Given the description of an element on the screen output the (x, y) to click on. 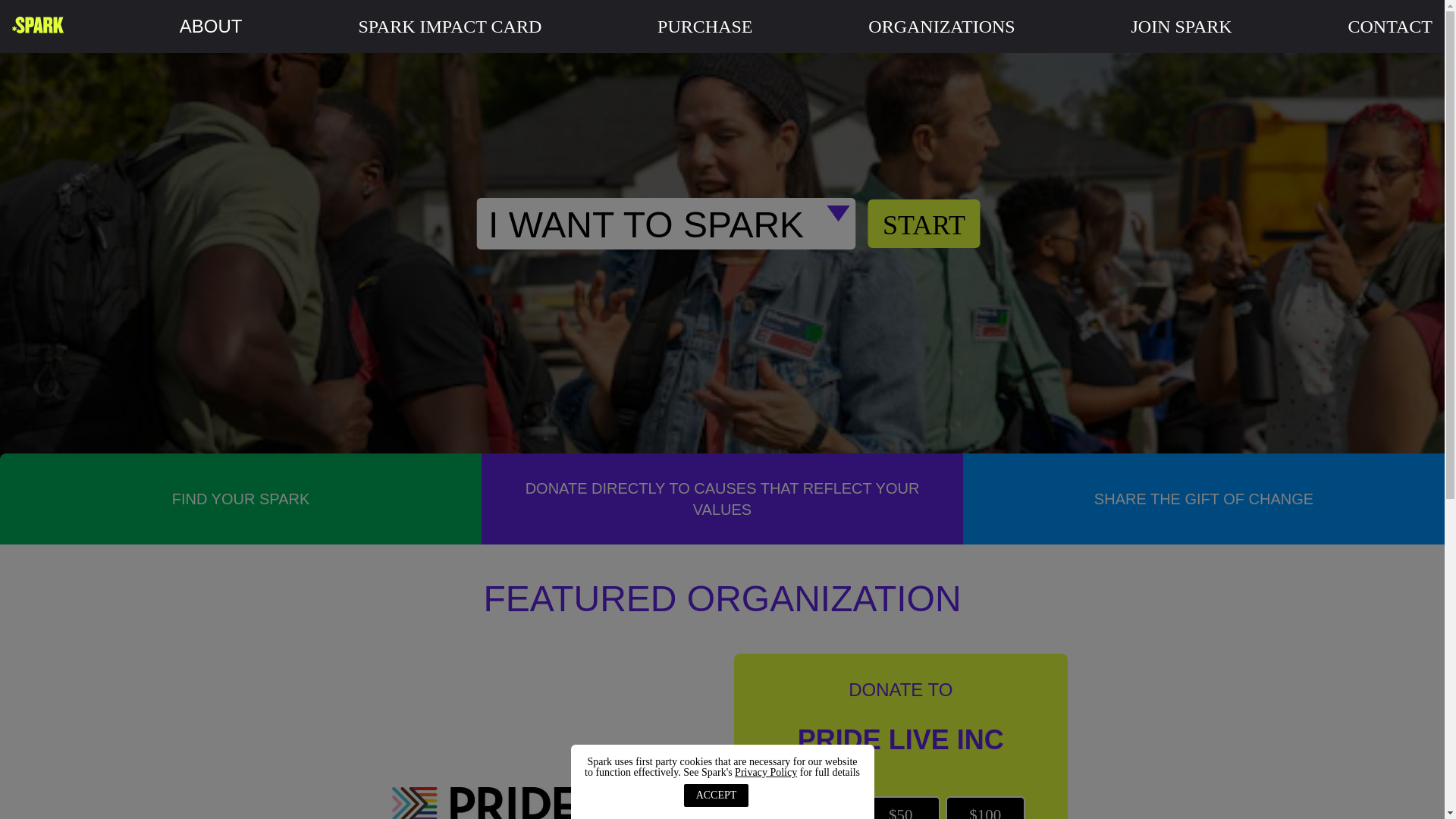
ORGANIZATIONS (940, 26)
ACCEPT (716, 794)
SPARK IMPACT CARD (449, 26)
START (923, 223)
Privacy Policy (765, 772)
CONTACT (1390, 26)
PURCHASE (705, 26)
JOIN SPARK (1181, 26)
